Given the description of an element on the screen output the (x, y) to click on. 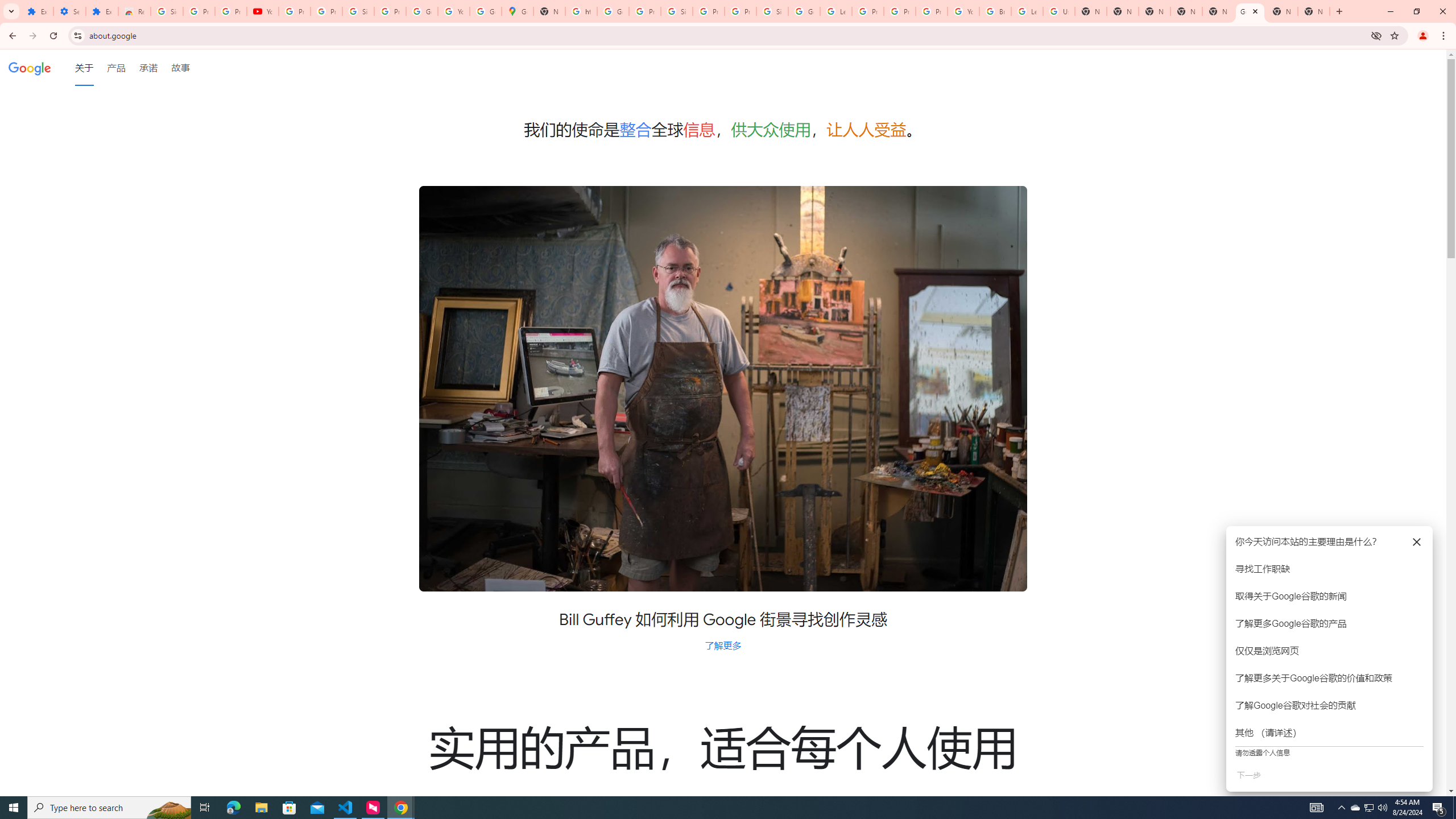
Privacy Help Center - Policies Help (899, 11)
Chrome (1445, 35)
Third-party cookies blocked (1376, 35)
